Given the description of an element on the screen output the (x, y) to click on. 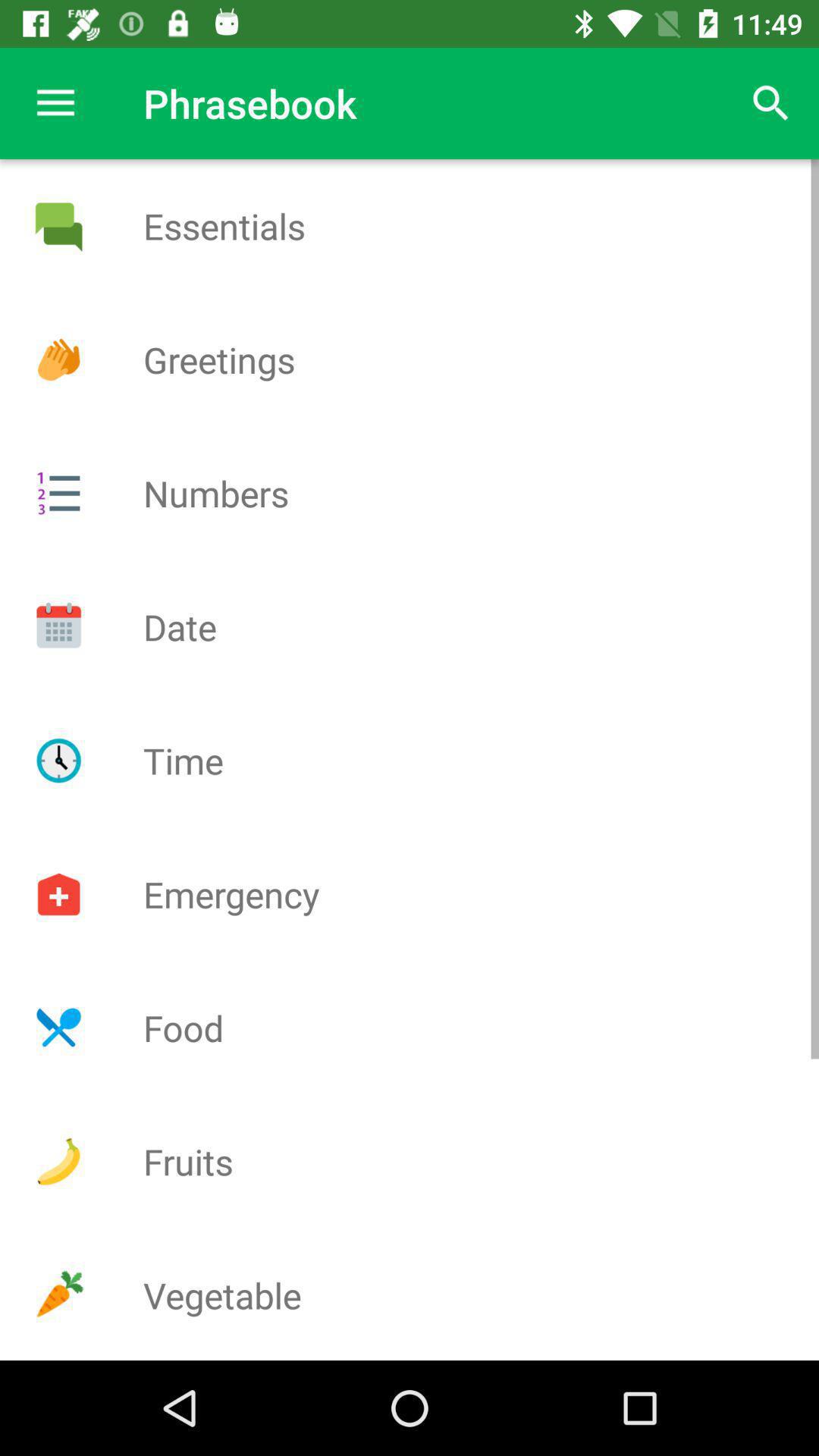
phrasebook fruits (58, 1161)
